Given the description of an element on the screen output the (x, y) to click on. 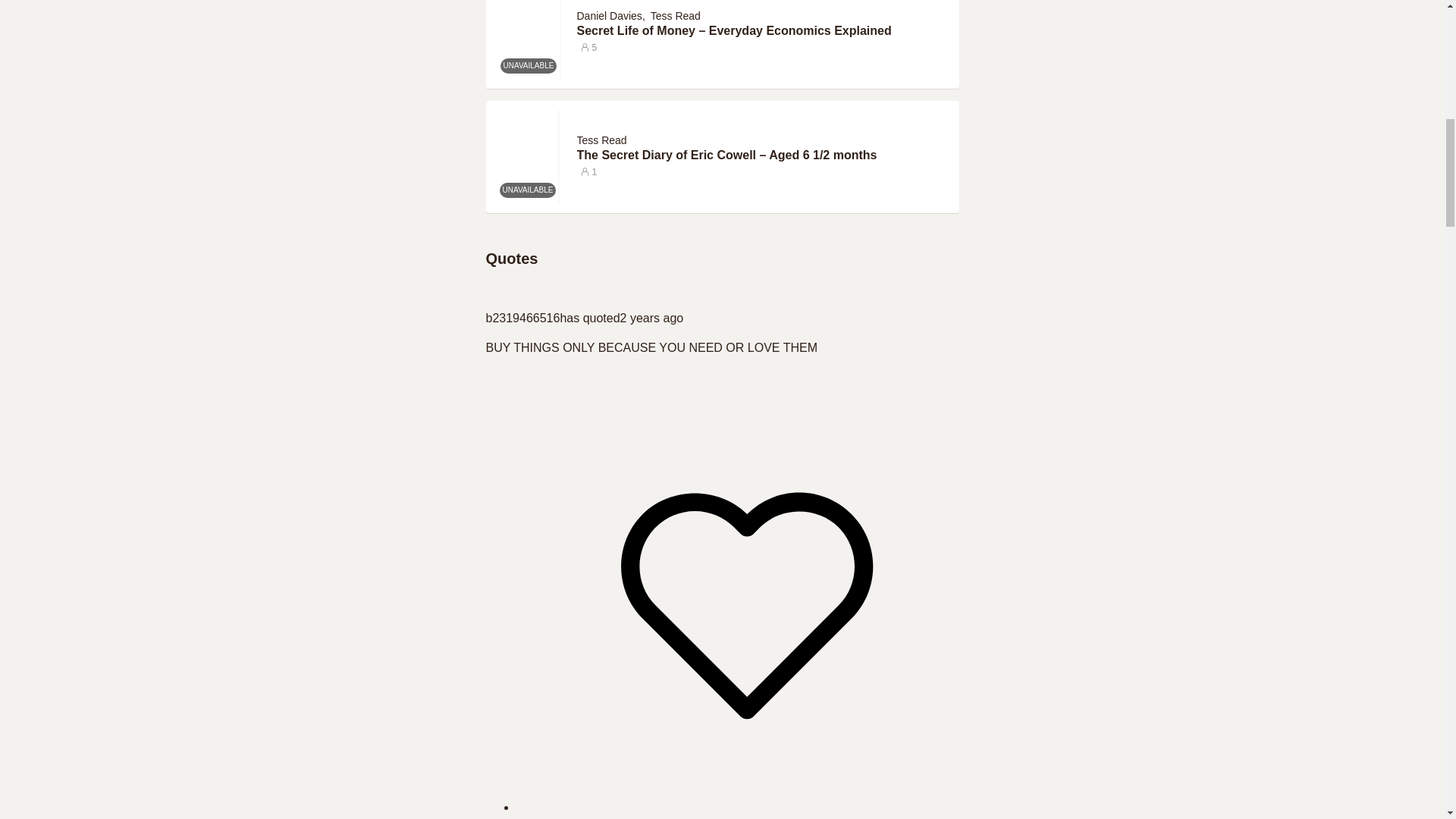
Daniel Davies (609, 15)
Tess Read (603, 139)
Daniel Davies, Tess Read (640, 15)
Tess Read (601, 140)
Tess Read (675, 15)
